Given the description of an element on the screen output the (x, y) to click on. 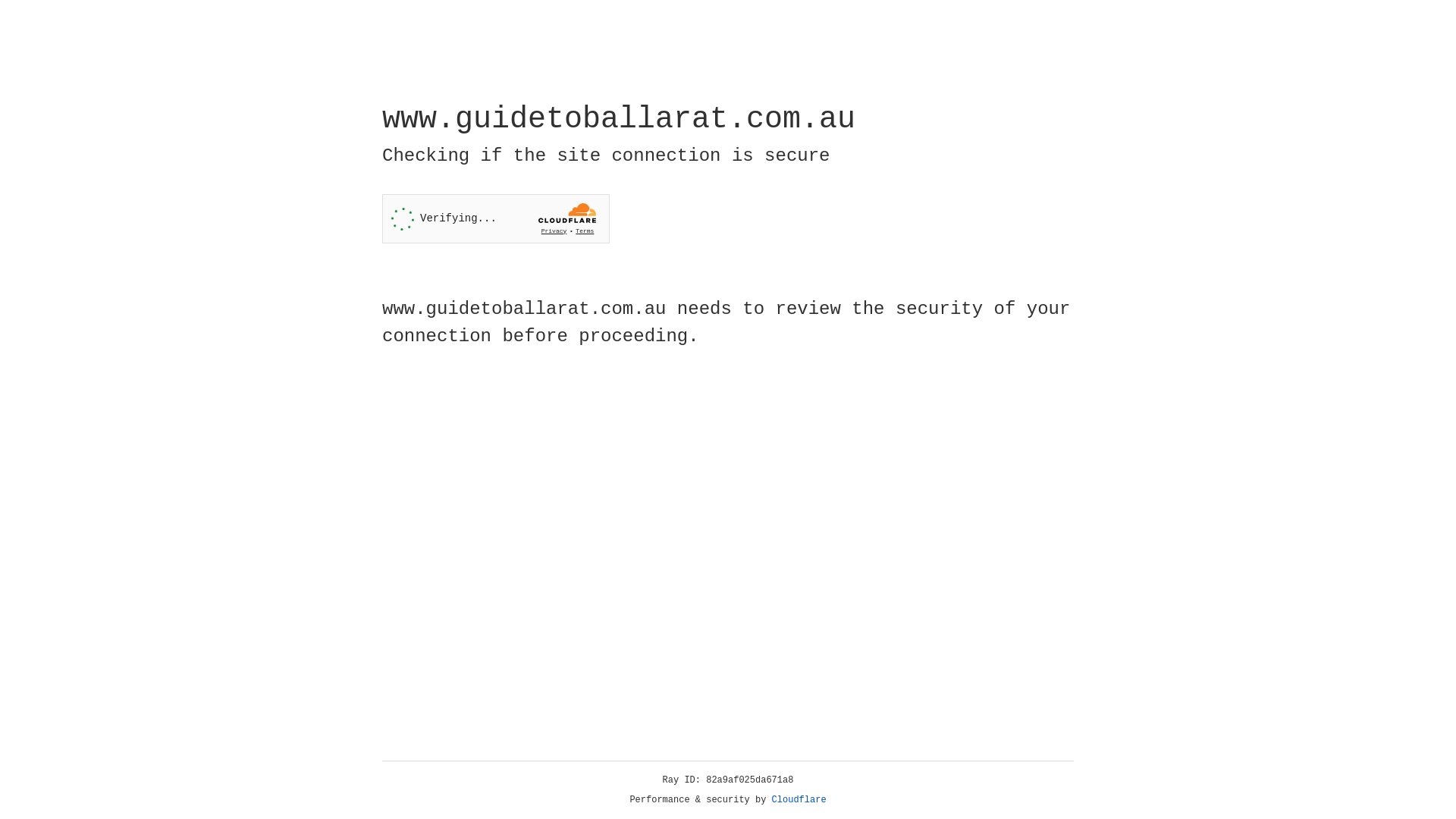
Widget containing a Cloudflare security challenge Element type: hover (495, 218)
Cloudflare Element type: text (798, 799)
